Given the description of an element on the screen output the (x, y) to click on. 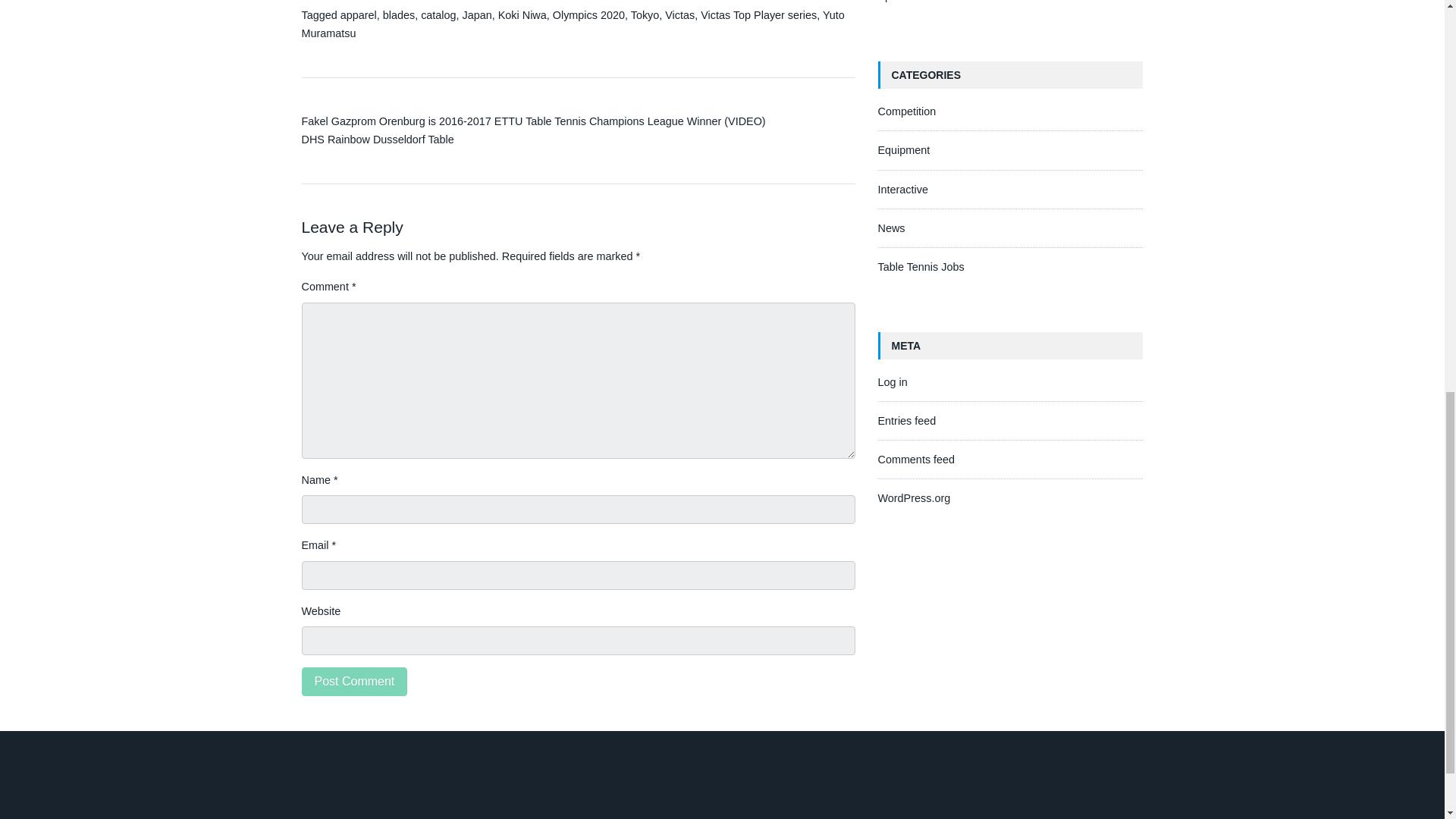
Victas Top Player series (758, 15)
News (891, 227)
Victas (679, 15)
catalog (437, 15)
Koki Niwa (522, 15)
DHS Rainbow Dusseldorf Table (377, 139)
Olympics 2020 (588, 15)
Interactive (902, 189)
blades (398, 15)
Post Comment (354, 681)
